Given the description of an element on the screen output the (x, y) to click on. 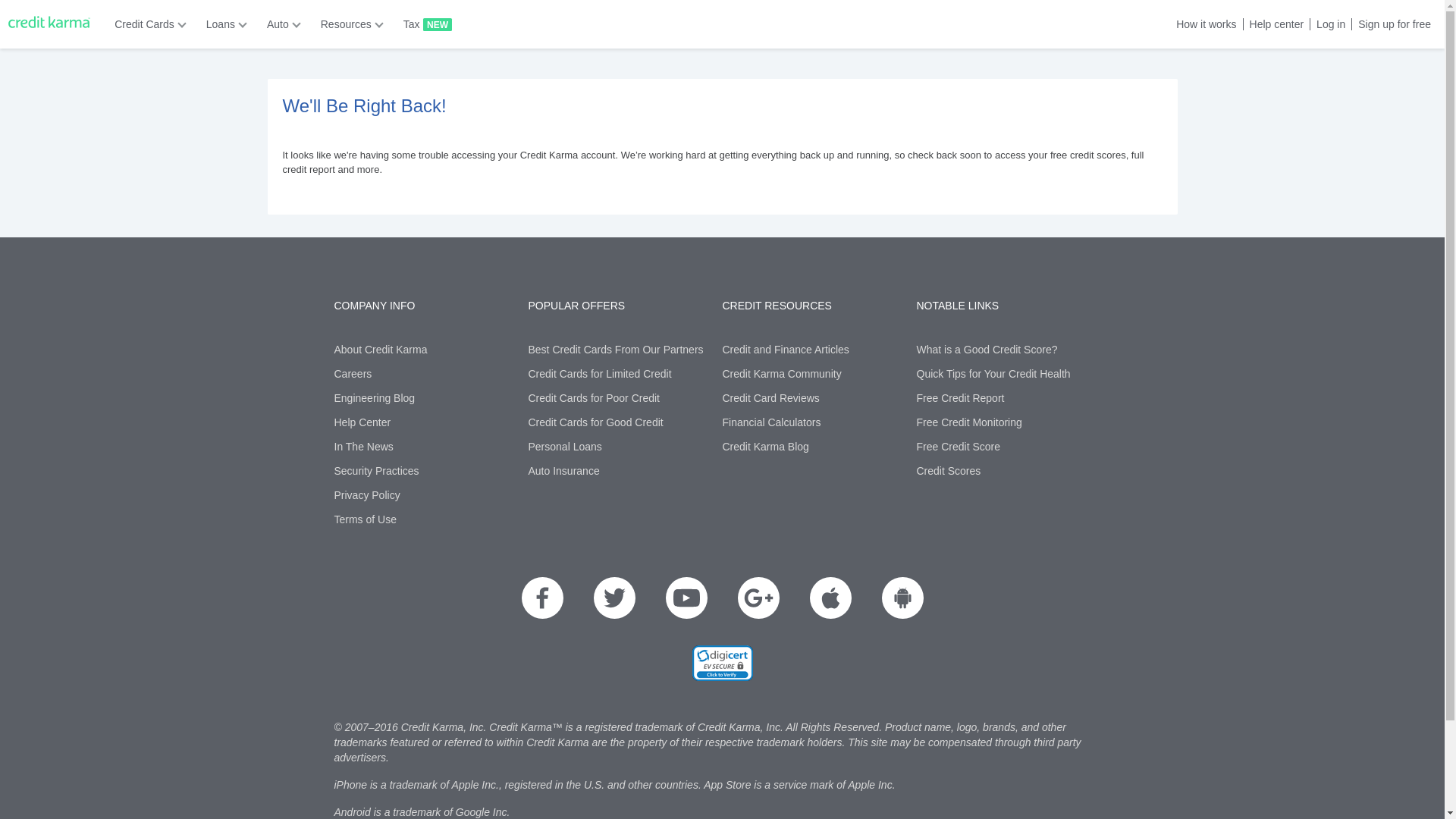
Facebook (542, 598)
Sign up for free (1391, 23)
How it works (1203, 23)
Credit Cards (146, 23)
Log in (1326, 23)
Download Android App (901, 598)
YouTube (686, 598)
Download iOS App (830, 598)
Help center (1273, 23)
Google Plus (757, 598)
Resources (347, 23)
Twitter (613, 598)
